Given the description of an element on the screen output the (x, y) to click on. 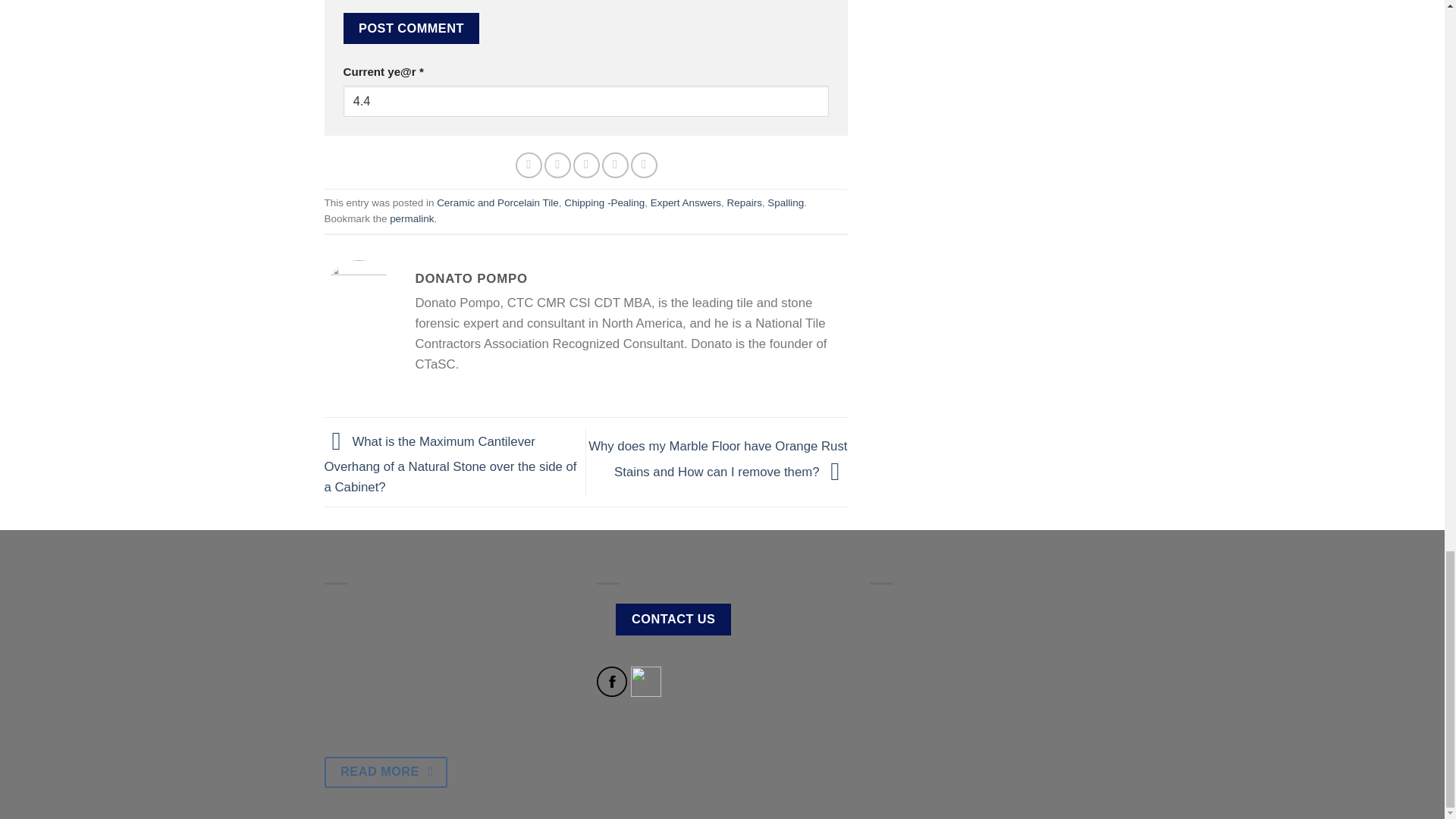
4.4 (585, 101)
Post Comment (410, 28)
